Given the description of an element on the screen output the (x, y) to click on. 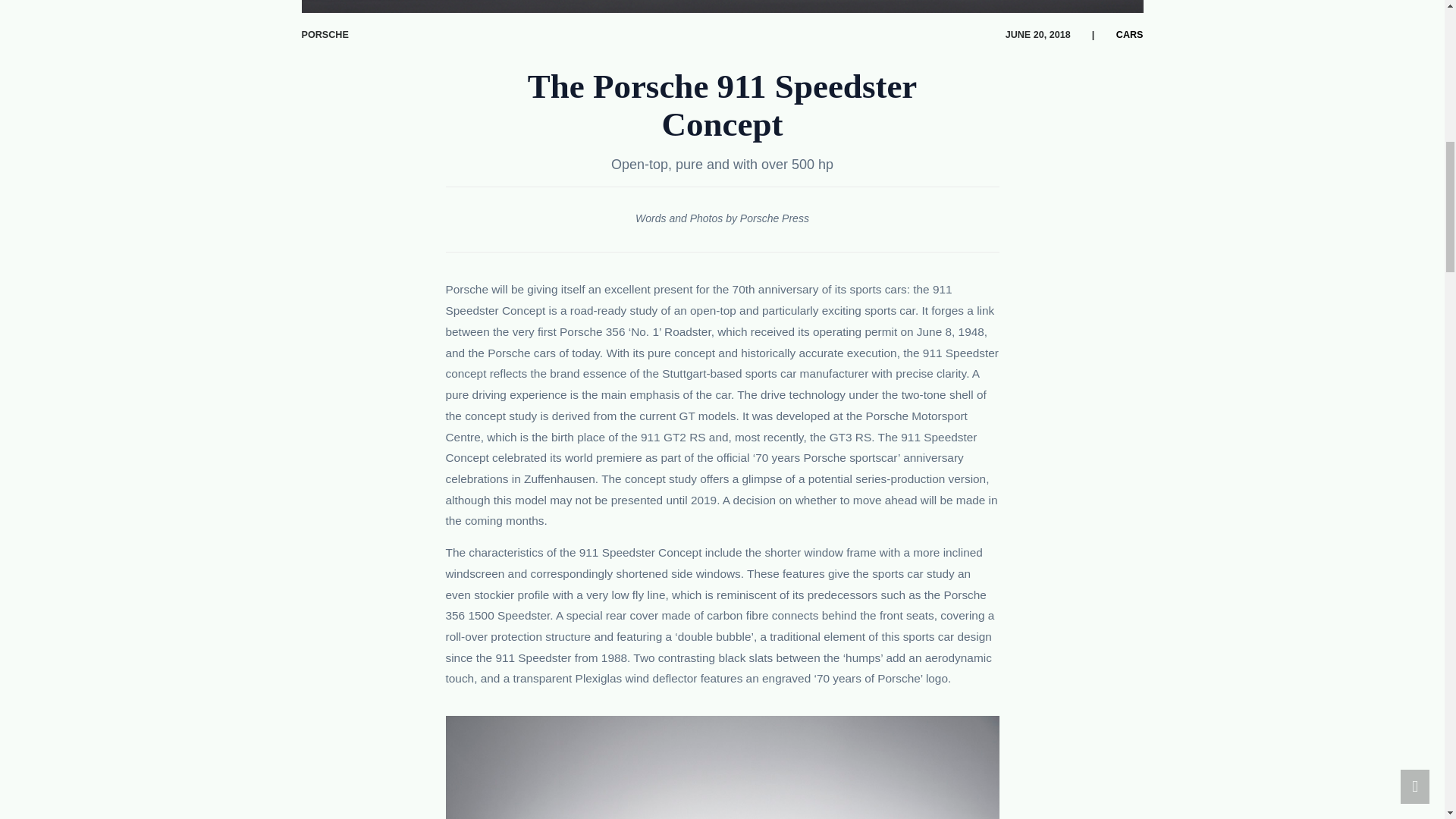
Open-top, pure and with over 500 hp (721, 164)
CARS (1125, 34)
